Given the description of an element on the screen output the (x, y) to click on. 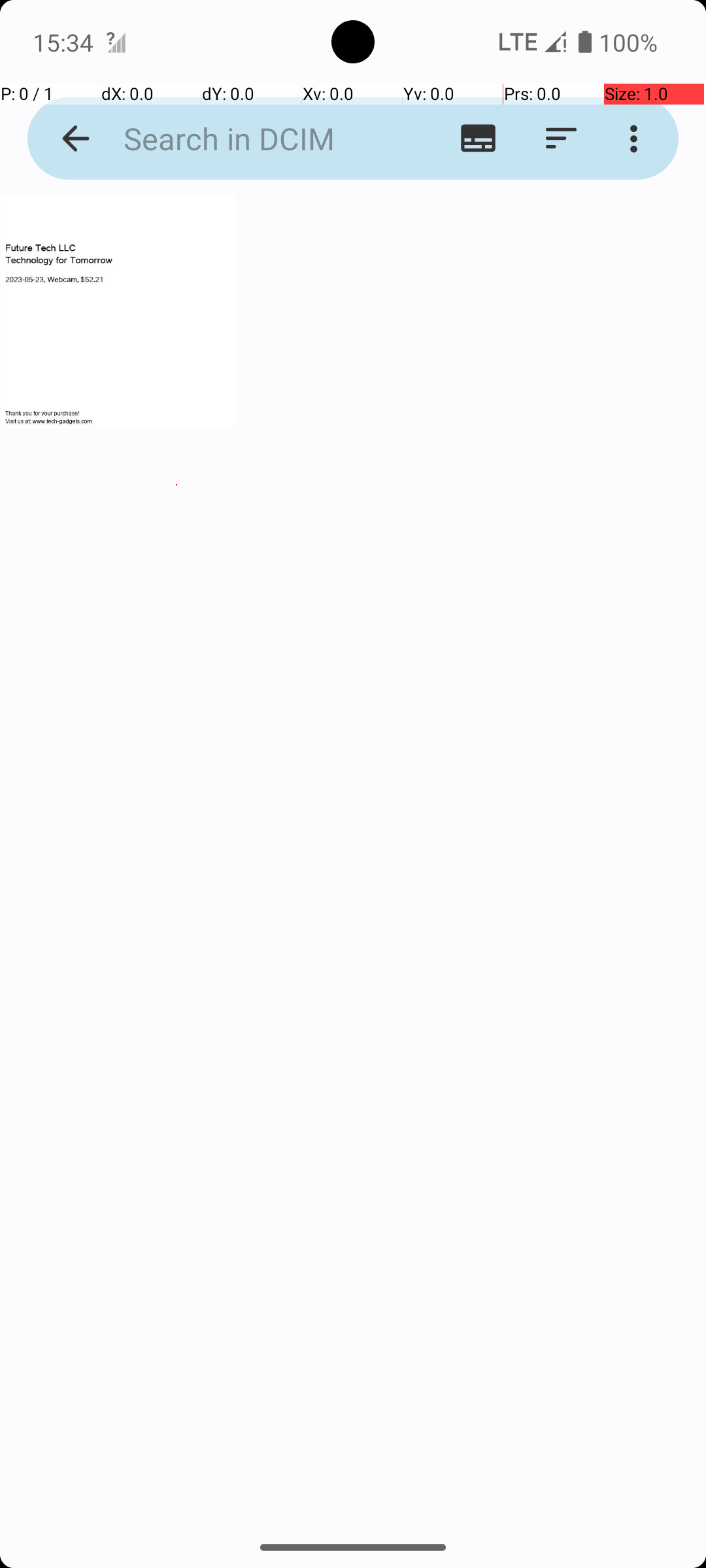
Search in DCIM Element type: android.widget.EditText (252, 138)
